Given the description of an element on the screen output the (x, y) to click on. 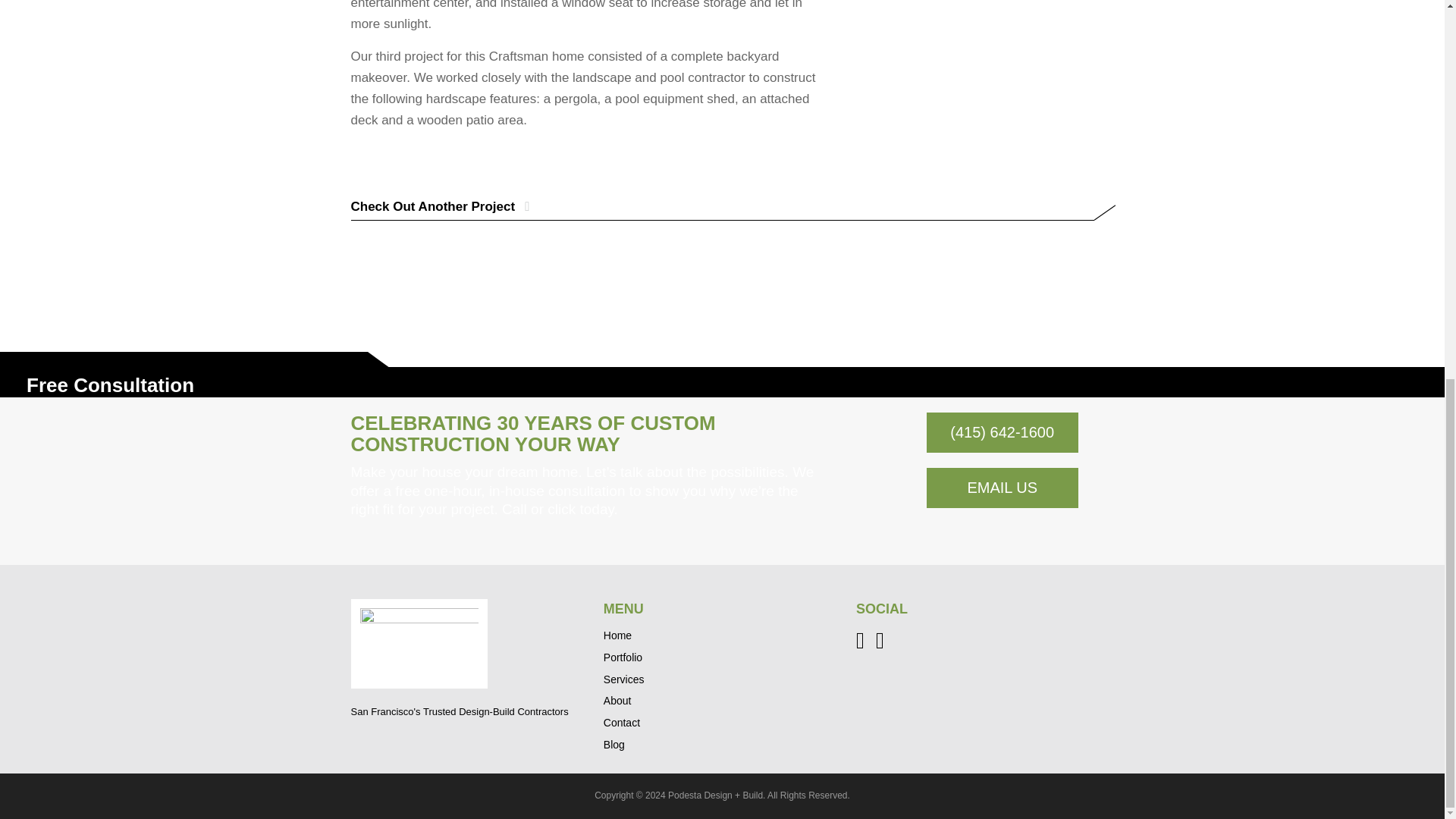
Email Us (1002, 487)
Home (617, 635)
About (617, 700)
Contact (622, 722)
EMAIL US (1002, 487)
Portfolio (623, 657)
Services (624, 679)
Blog (614, 744)
